Given the description of an element on the screen output the (x, y) to click on. 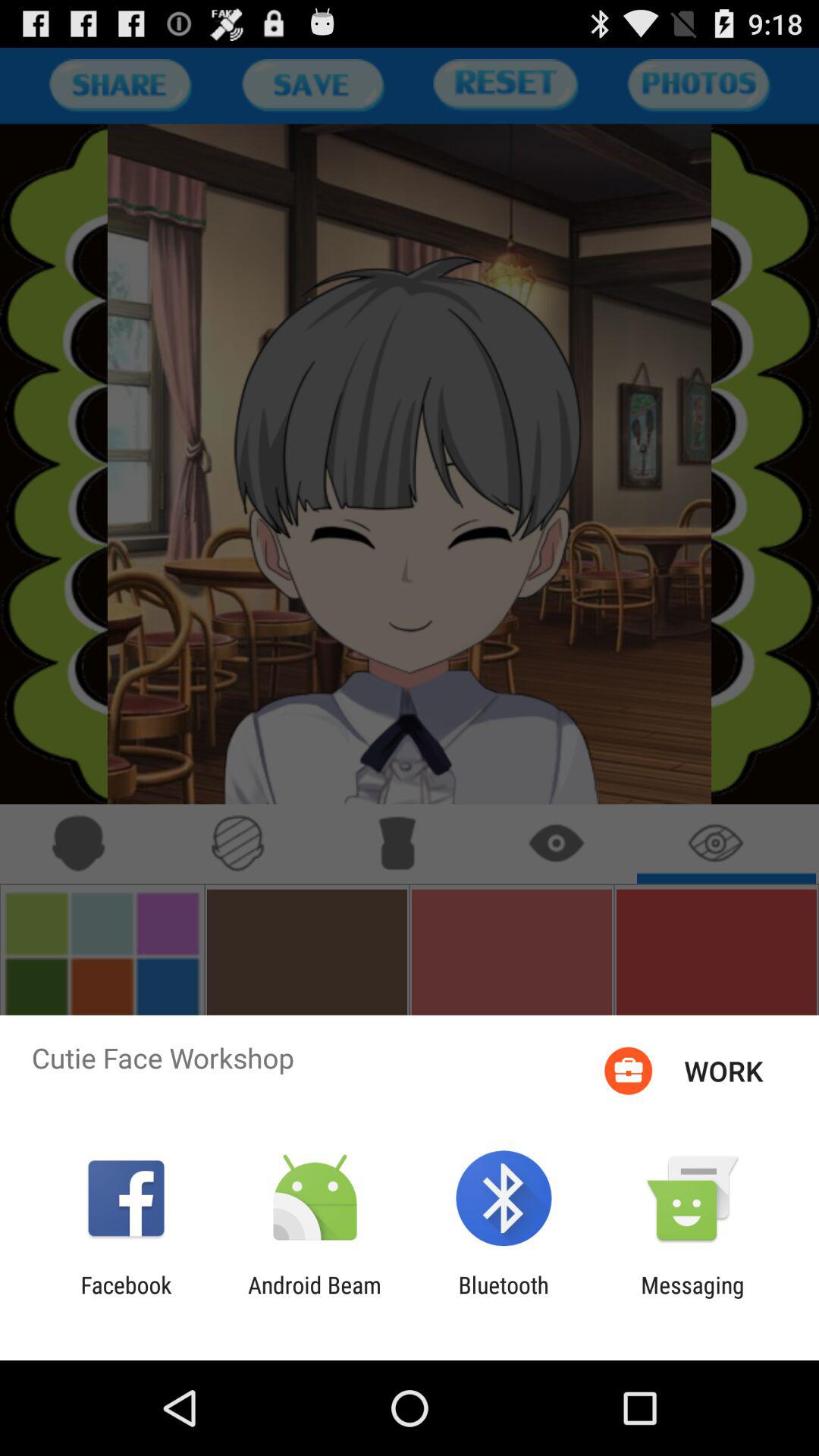
turn off icon to the left of bluetooth item (314, 1298)
